Given the description of an element on the screen output the (x, y) to click on. 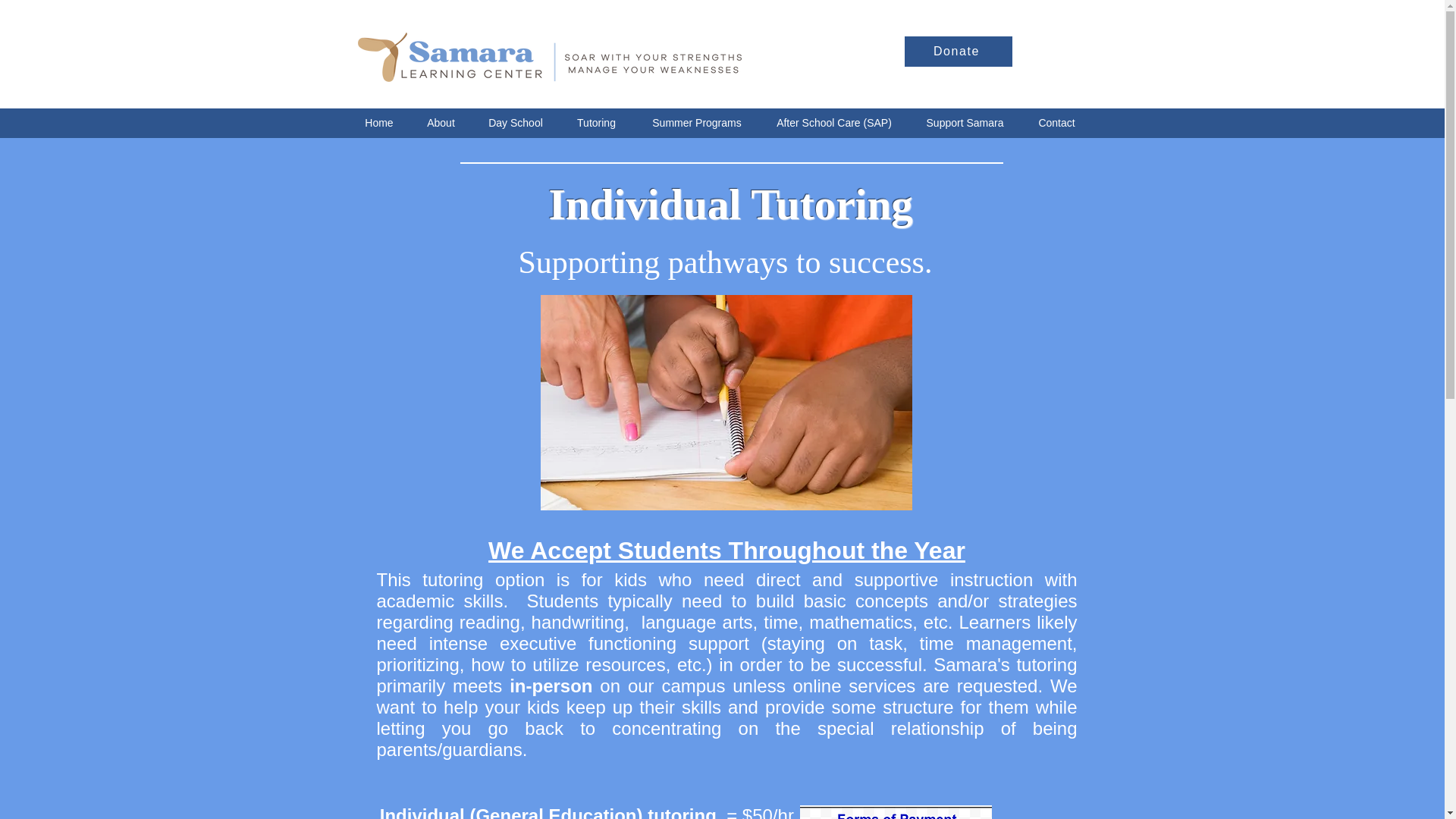
About (440, 123)
Summer Programs (696, 123)
Tutoring (596, 123)
Donate (957, 51)
Contact (1057, 123)
Day School (515, 123)
Home (379, 123)
